Given the description of an element on the screen output the (x, y) to click on. 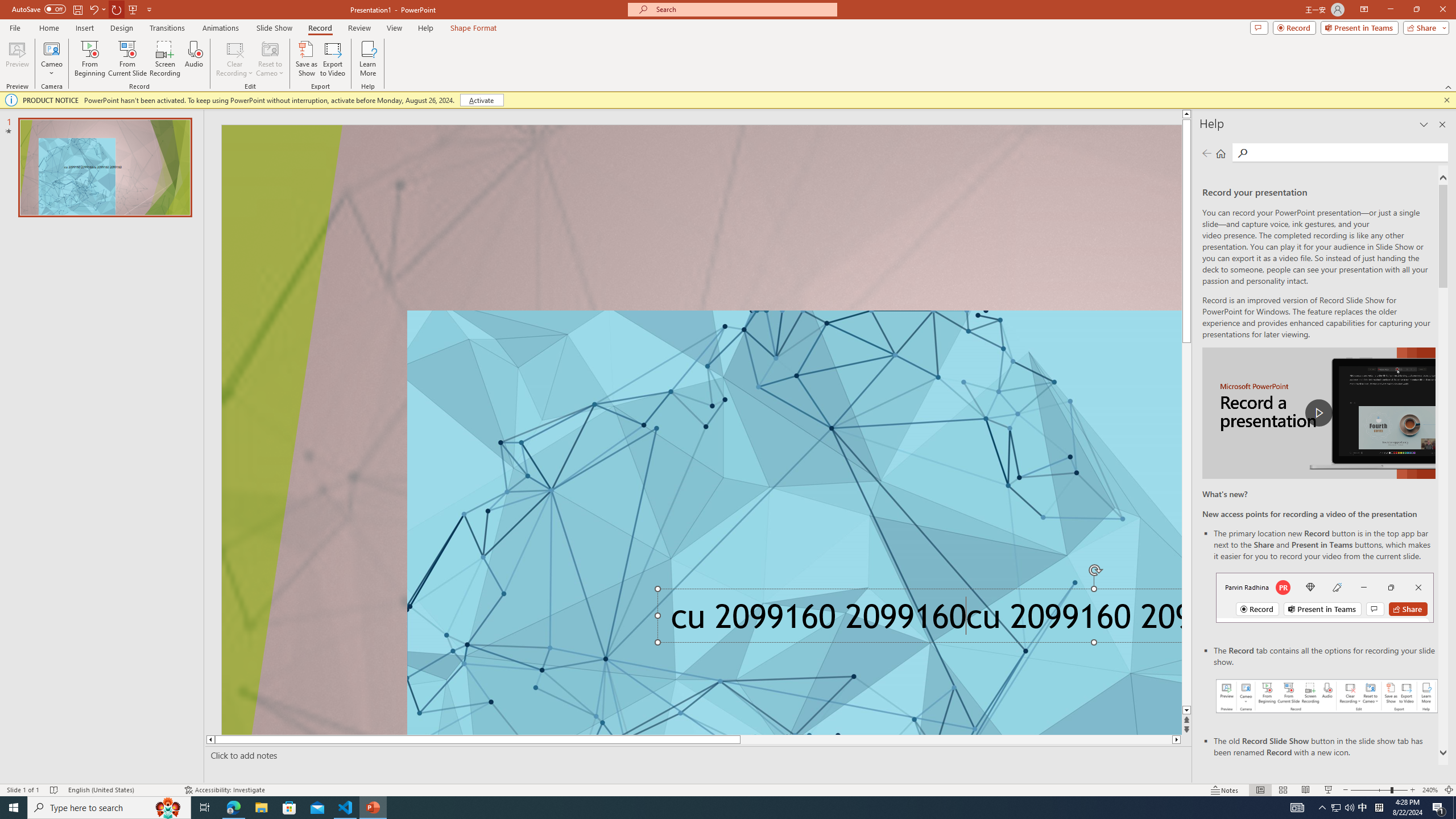
Previous page (1206, 152)
